Given the description of an element on the screen output the (x, y) to click on. 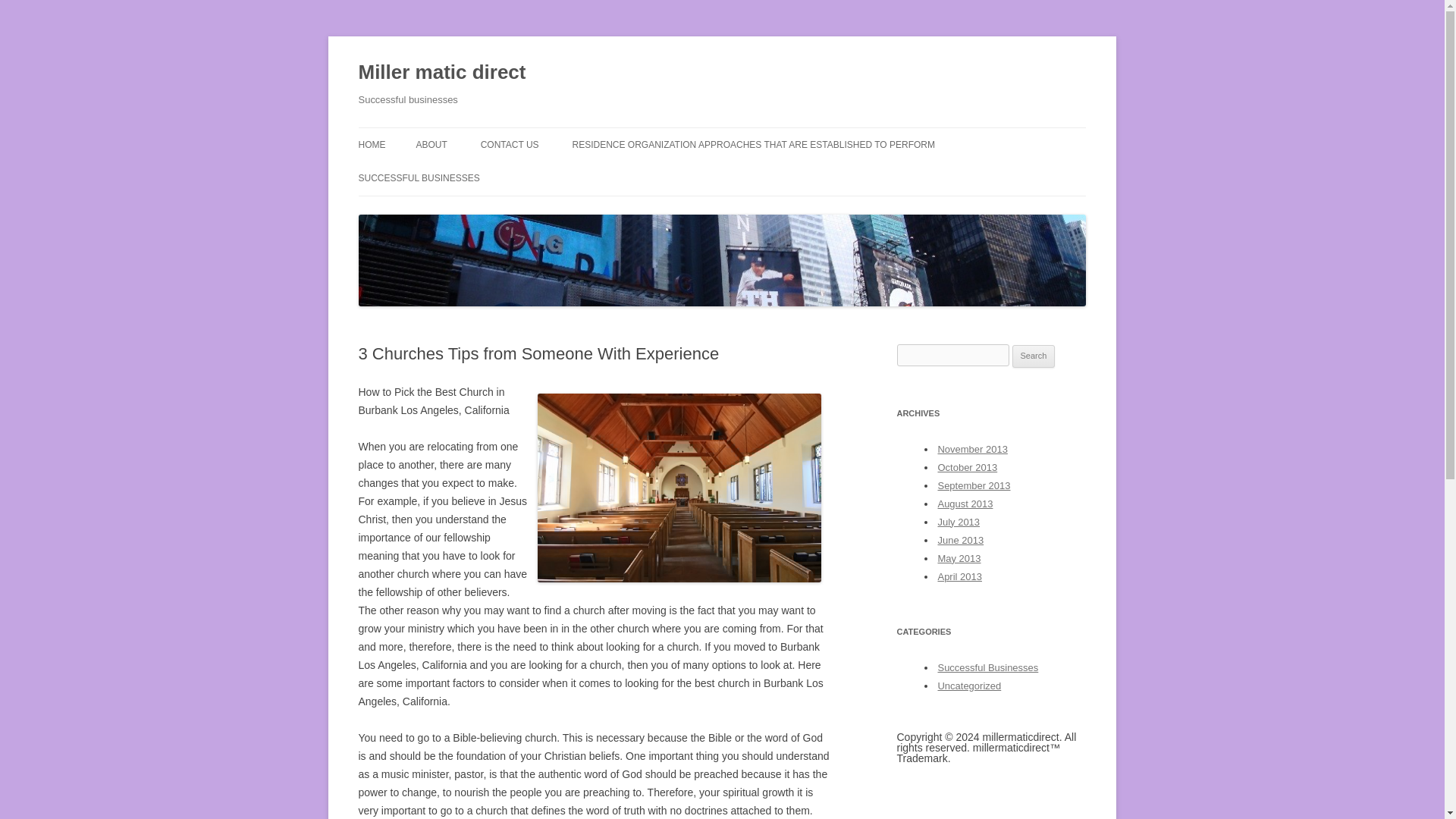
July 2013 (958, 521)
Successful Businesses (987, 667)
September 2013 (973, 485)
June 2013 (960, 540)
SUCCESSFUL BUSINESSES (418, 177)
August 2013 (964, 503)
July 2013 (958, 521)
ABOUT (430, 144)
Search (1033, 355)
